Given the description of an element on the screen output the (x, y) to click on. 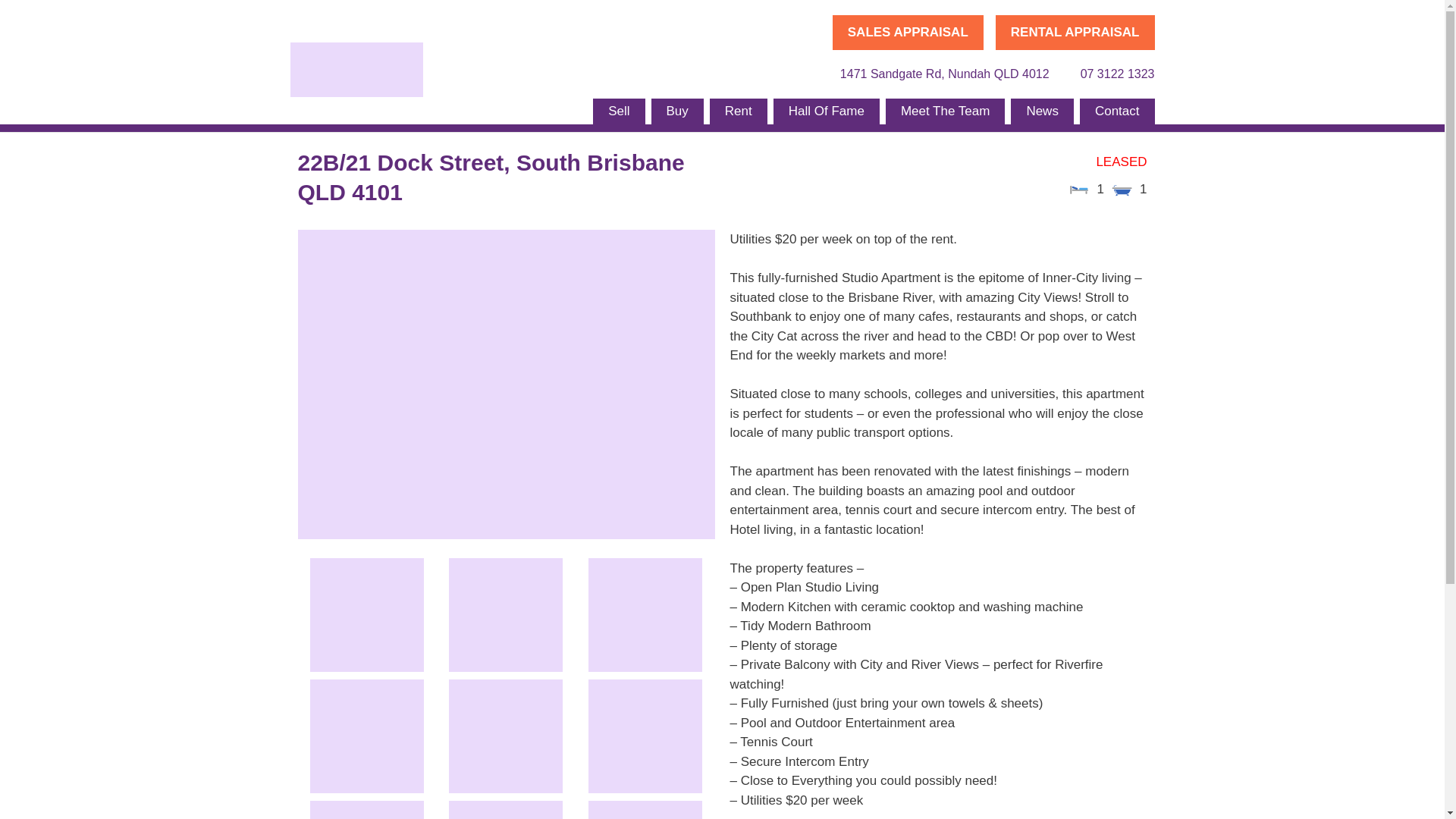
Hall Of Fame (826, 111)
RENTAL APPRAISAL (1074, 32)
Meet The Team (945, 111)
Sell (618, 111)
Bedrooms (1078, 188)
Rent (738, 111)
Contact (1117, 111)
Bathrooms (1122, 188)
1471 Sandgate Rd, Nundah QLD 4012 (935, 74)
News (1042, 111)
